Given the description of an element on the screen output the (x, y) to click on. 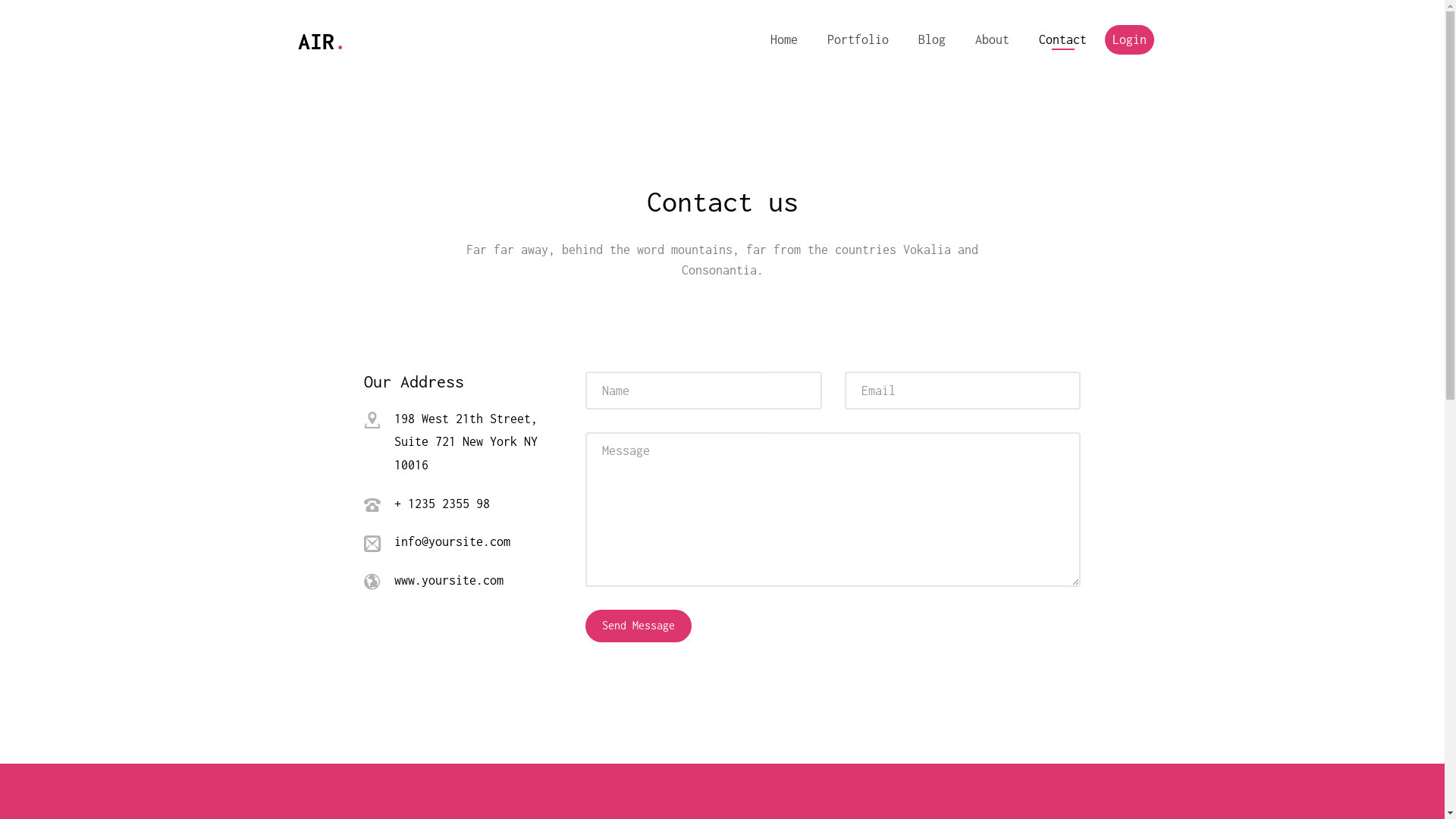
www.yoursite.com Element type: text (448, 579)
Contact Element type: text (1062, 39)
Home Element type: text (784, 39)
Login Element type: text (1129, 39)
Blog Element type: text (931, 39)
Portfolio Element type: text (857, 39)
info@yoursite.com Element type: text (452, 541)
AIR. Element type: text (321, 41)
Send Message Element type: text (638, 625)
About Element type: text (991, 39)
